Given the description of an element on the screen output the (x, y) to click on. 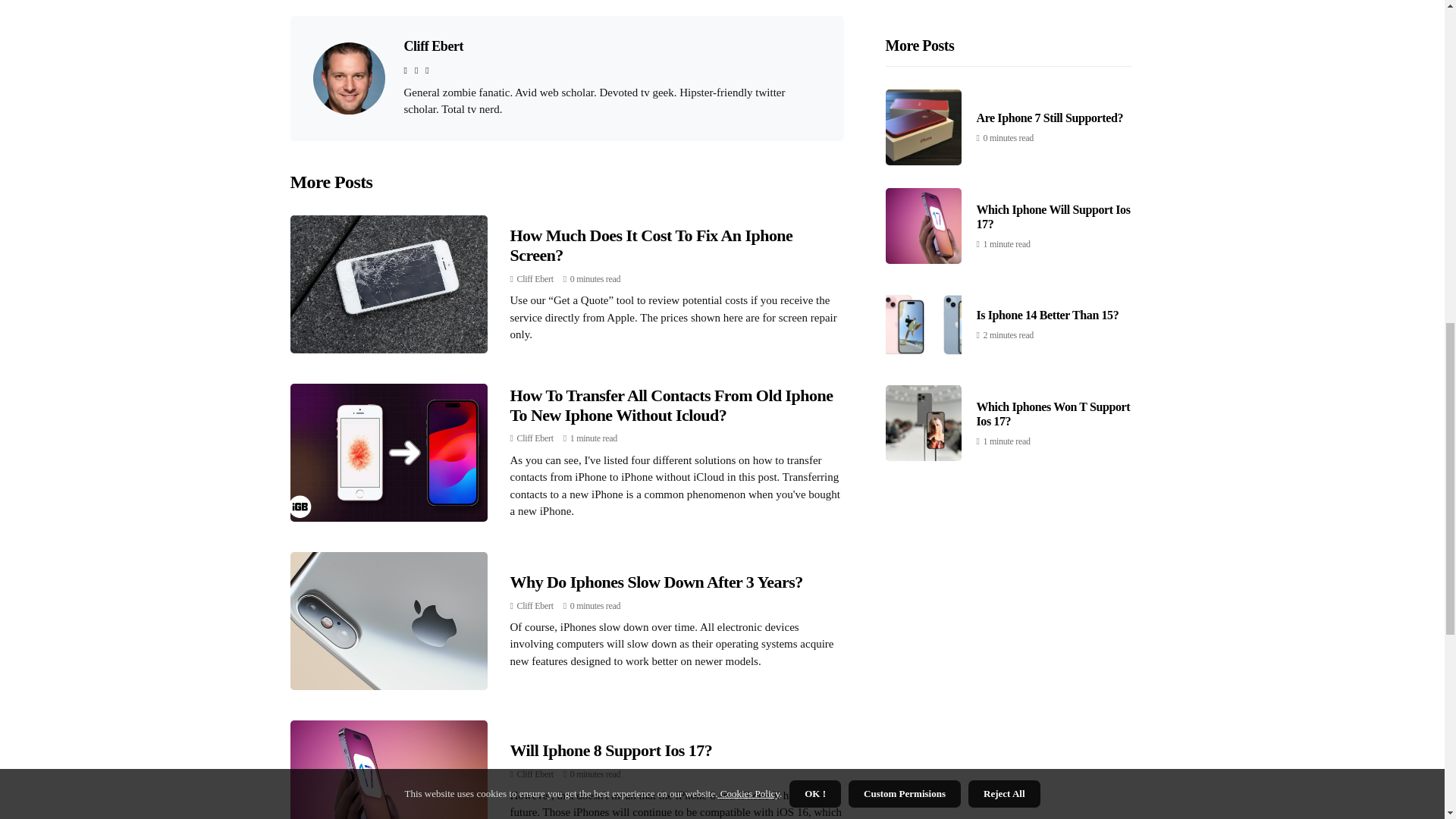
Posts by Cliff Ebert (534, 278)
Cliff Ebert (534, 605)
Cliff Ebert (534, 278)
Cliff Ebert (534, 438)
Cliff Ebert (433, 46)
Will Iphone 8 Support Ios 17? (610, 750)
Why Do Iphones Slow Down After 3 Years? (655, 581)
Posts by Cliff Ebert (534, 774)
Cliff Ebert (534, 774)
Posts by Cliff Ebert (534, 605)
How Much Does It Cost To Fix An Iphone Screen? (650, 245)
Posts by Cliff Ebert (534, 438)
